Given the description of an element on the screen output the (x, y) to click on. 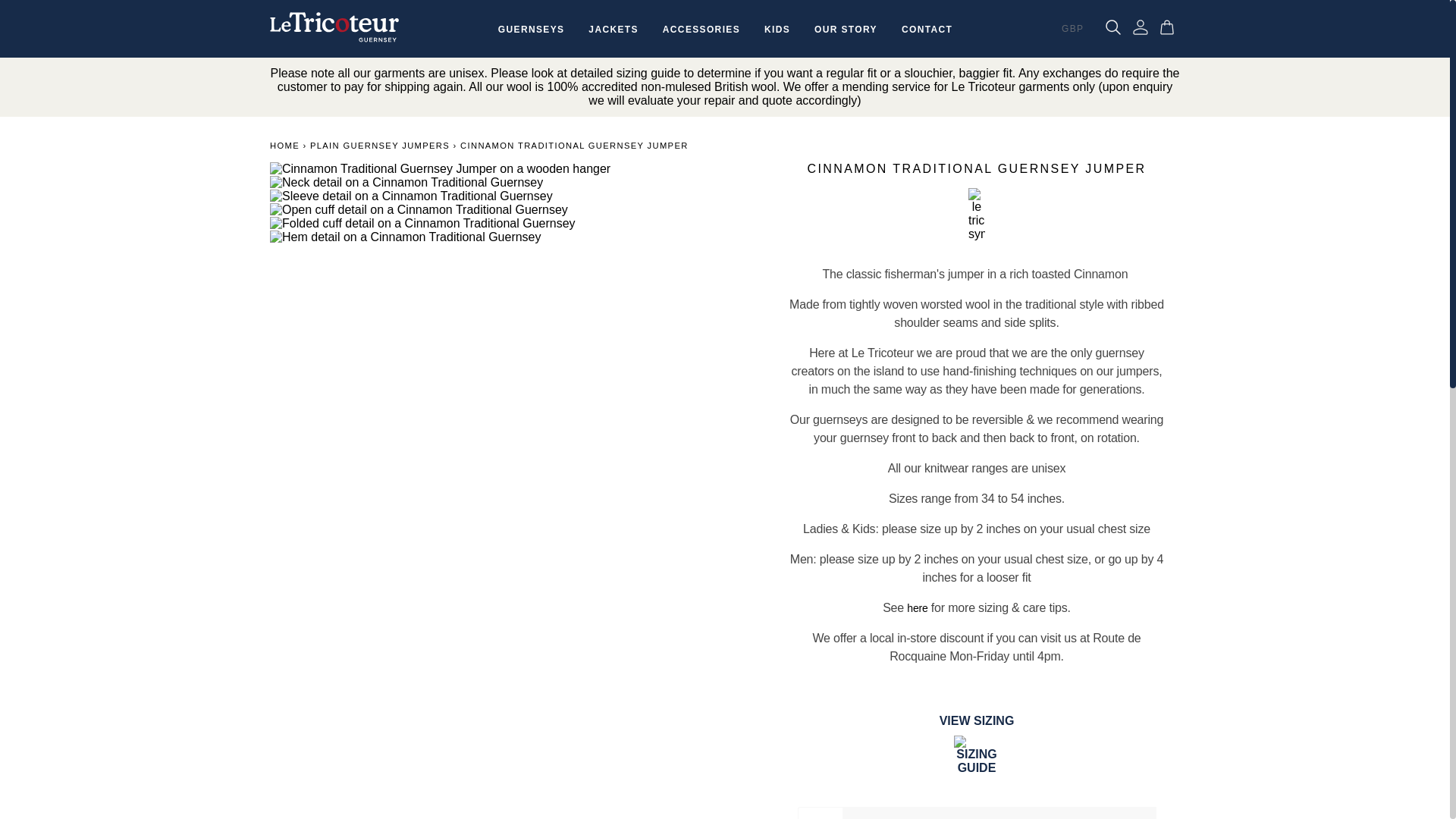
CONTACT (926, 29)
OUR STORY (845, 29)
Home (284, 144)
JACKETS (612, 29)
GUERNSEYS (530, 29)
here (917, 607)
HOME (284, 144)
ACCESSORIES (700, 29)
PLAIN GUERNSEY JUMPERS (379, 144)
KIDS (777, 29)
